Given the description of an element on the screen output the (x, y) to click on. 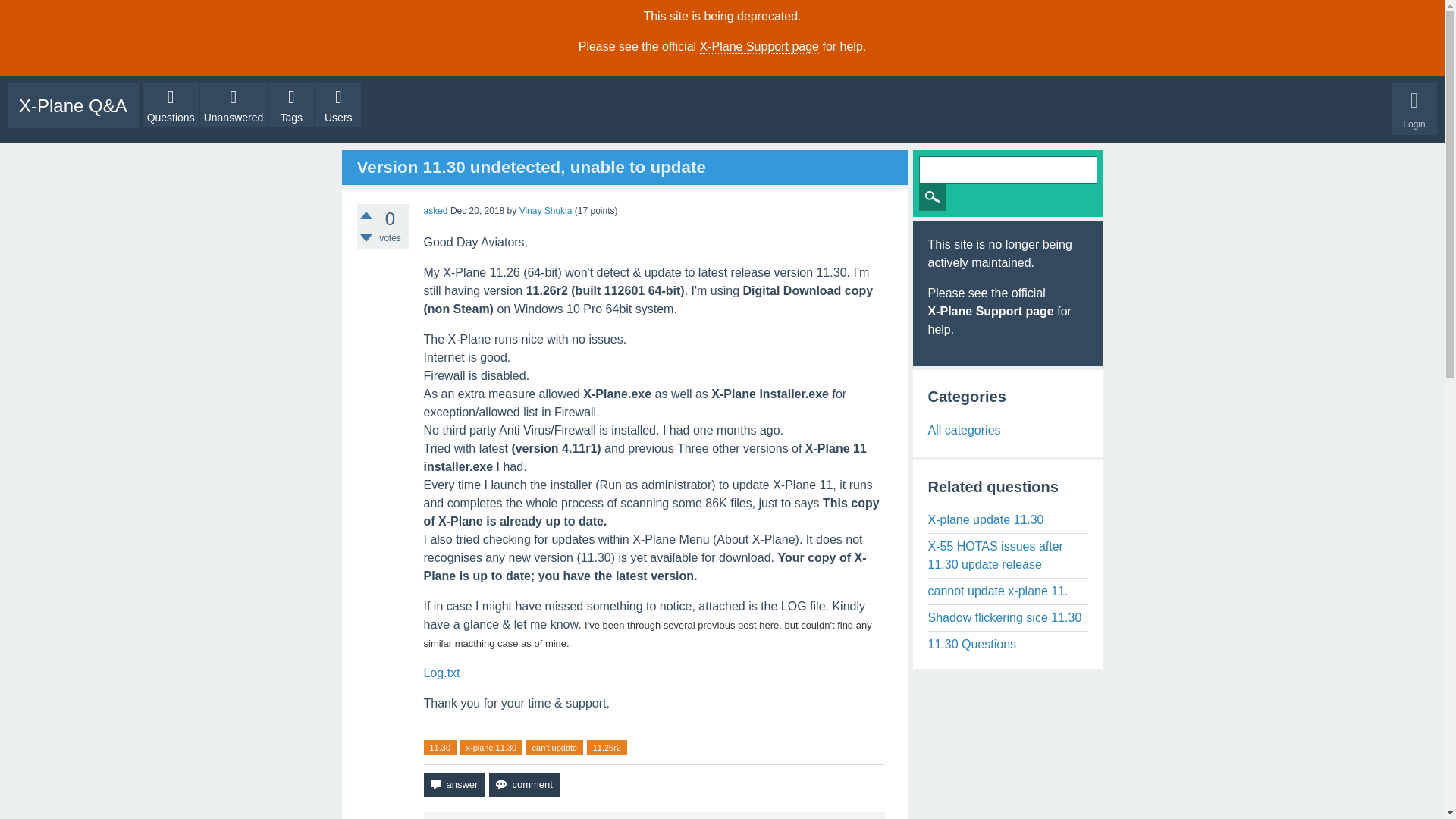
Add a comment on this question (524, 784)
Search (932, 196)
Click to vote down (365, 237)
x-plane 11.30 (491, 747)
comment (524, 784)
answer (453, 784)
Search (932, 196)
11.30 (440, 747)
Unanswered (233, 105)
Log.txt (441, 672)
asked (434, 210)
Users (338, 105)
11.26r2 (606, 747)
can't update (554, 747)
Version 11.30 undetected, unable to update (530, 167)
